Given the description of an element on the screen output the (x, y) to click on. 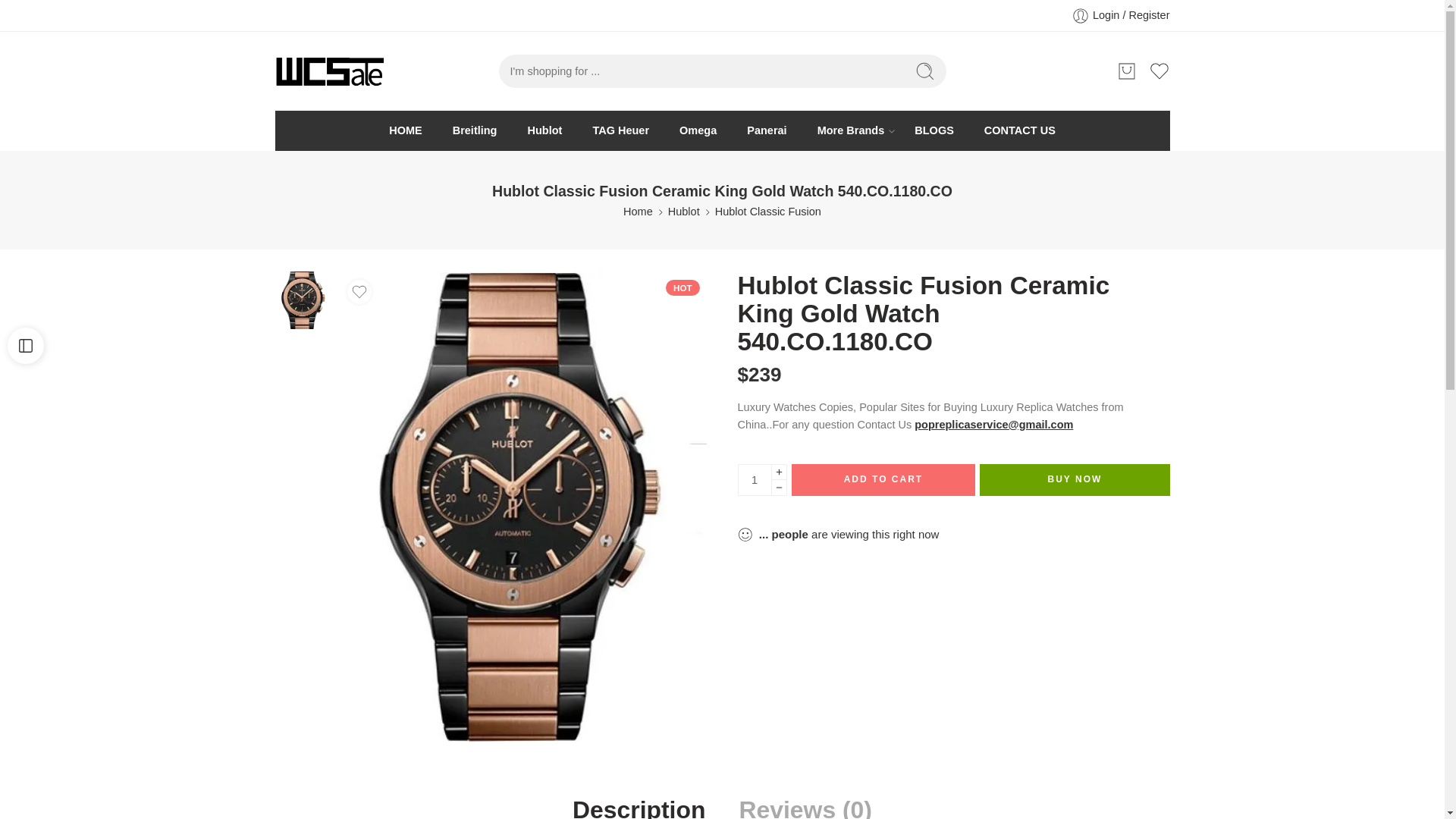
Breitling (474, 130)
More Brands (850, 130)
Home (637, 211)
TAG Heuer (620, 130)
1 (753, 480)
Wishlist (1158, 70)
TAG Heuer (620, 130)
Omega (697, 130)
More Brands (850, 130)
Panerai (766, 130)
Hublot (684, 211)
BUY NOW (1074, 480)
Hublot Classic Fusion (767, 211)
Omega (697, 130)
ADD TO CART (883, 480)
